Given the description of an element on the screen output the (x, y) to click on. 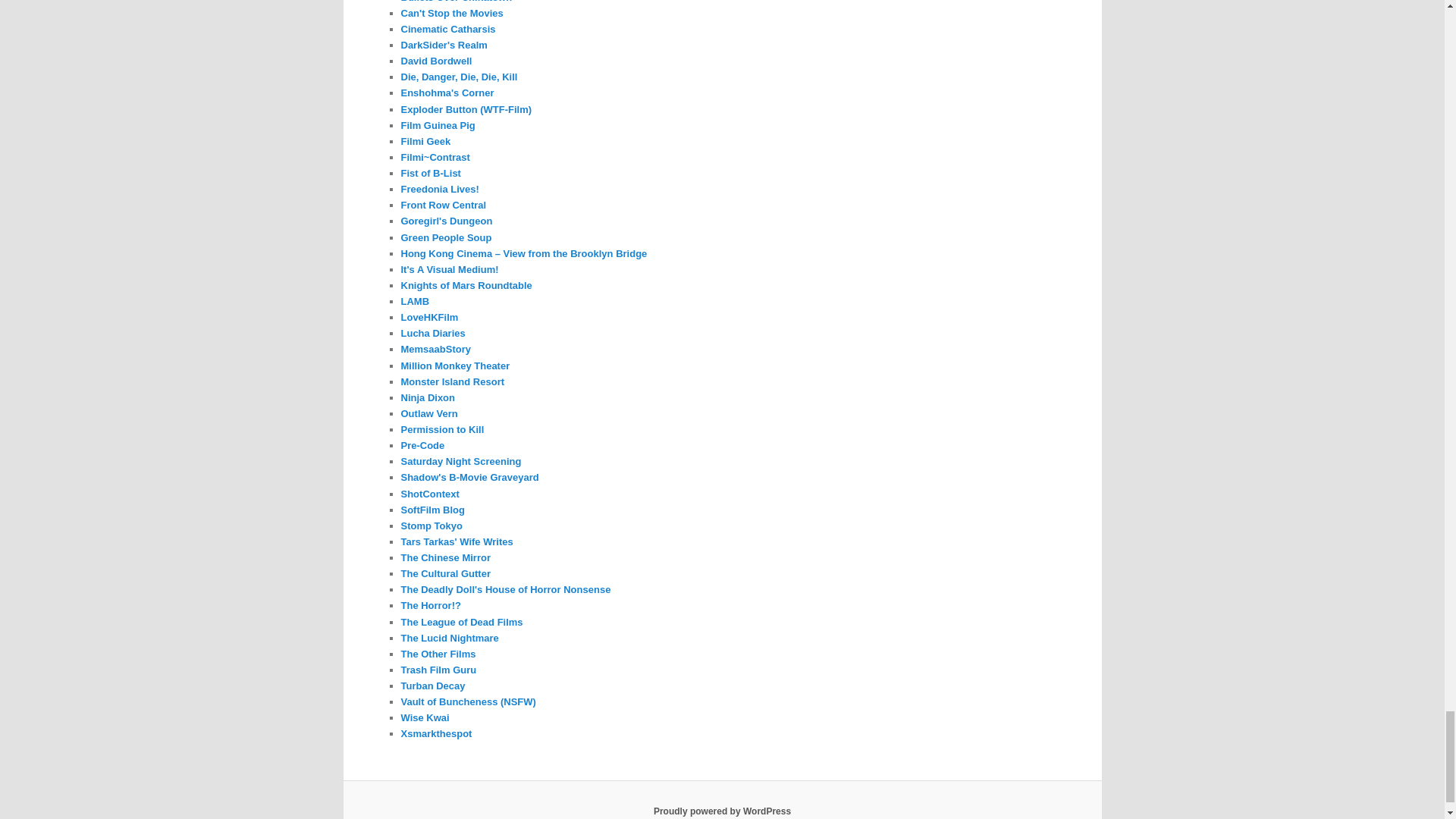
Semantic Personal Publishing Platform (721, 810)
